Given the description of an element on the screen output the (x, y) to click on. 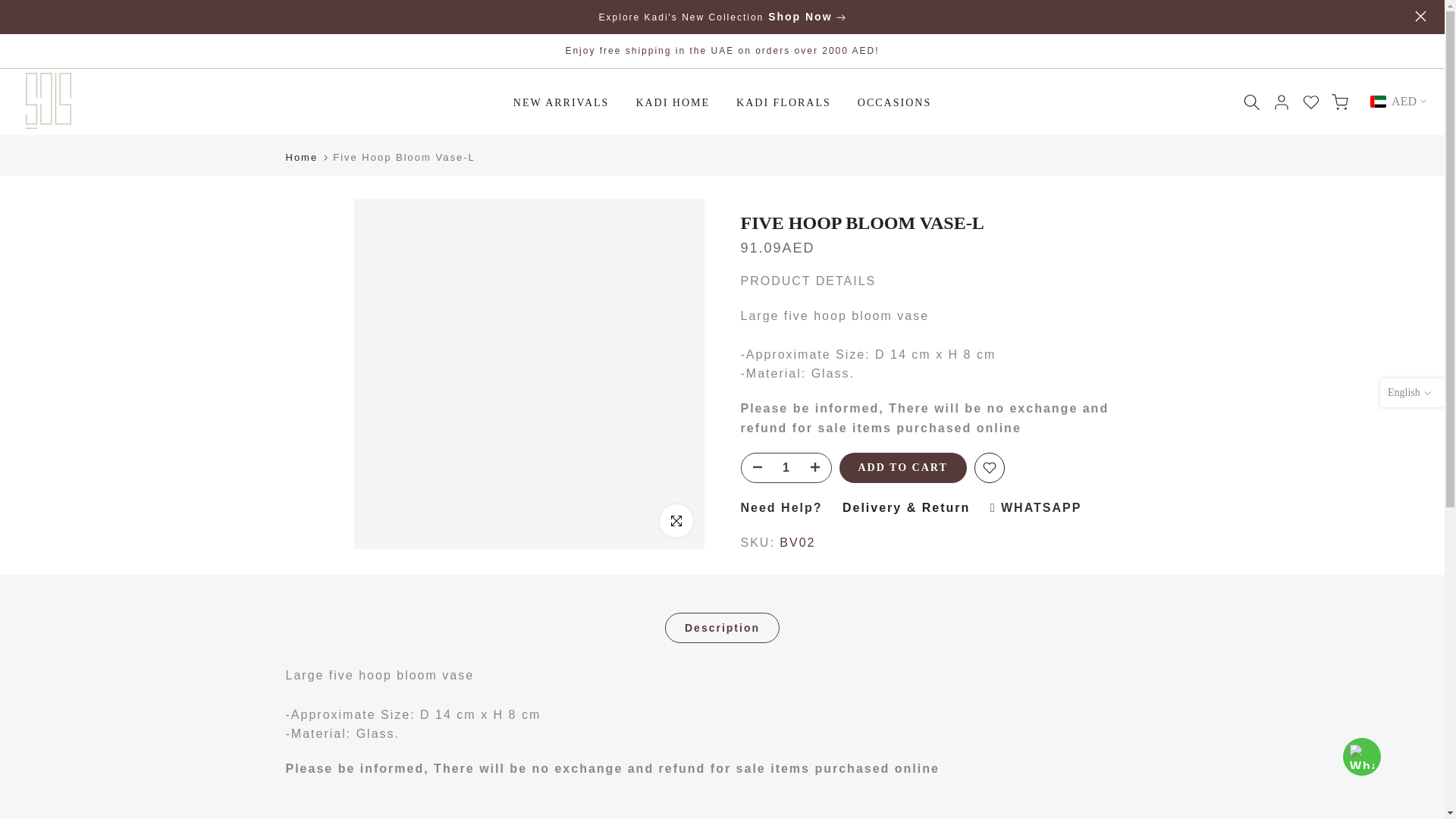
close (1420, 16)
WHATSAPP (1035, 507)
NEW ARRIVALS (561, 103)
KADI FLORALS (783, 103)
AED (1398, 101)
Need Help? (780, 507)
Description (721, 627)
OCCASIONS (893, 103)
Skip to content (10, 7)
ADD TO CART (902, 467)
KADI HOME (673, 103)
Home (301, 157)
1 (786, 467)
Shop Now (801, 17)
